Given the description of an element on the screen output the (x, y) to click on. 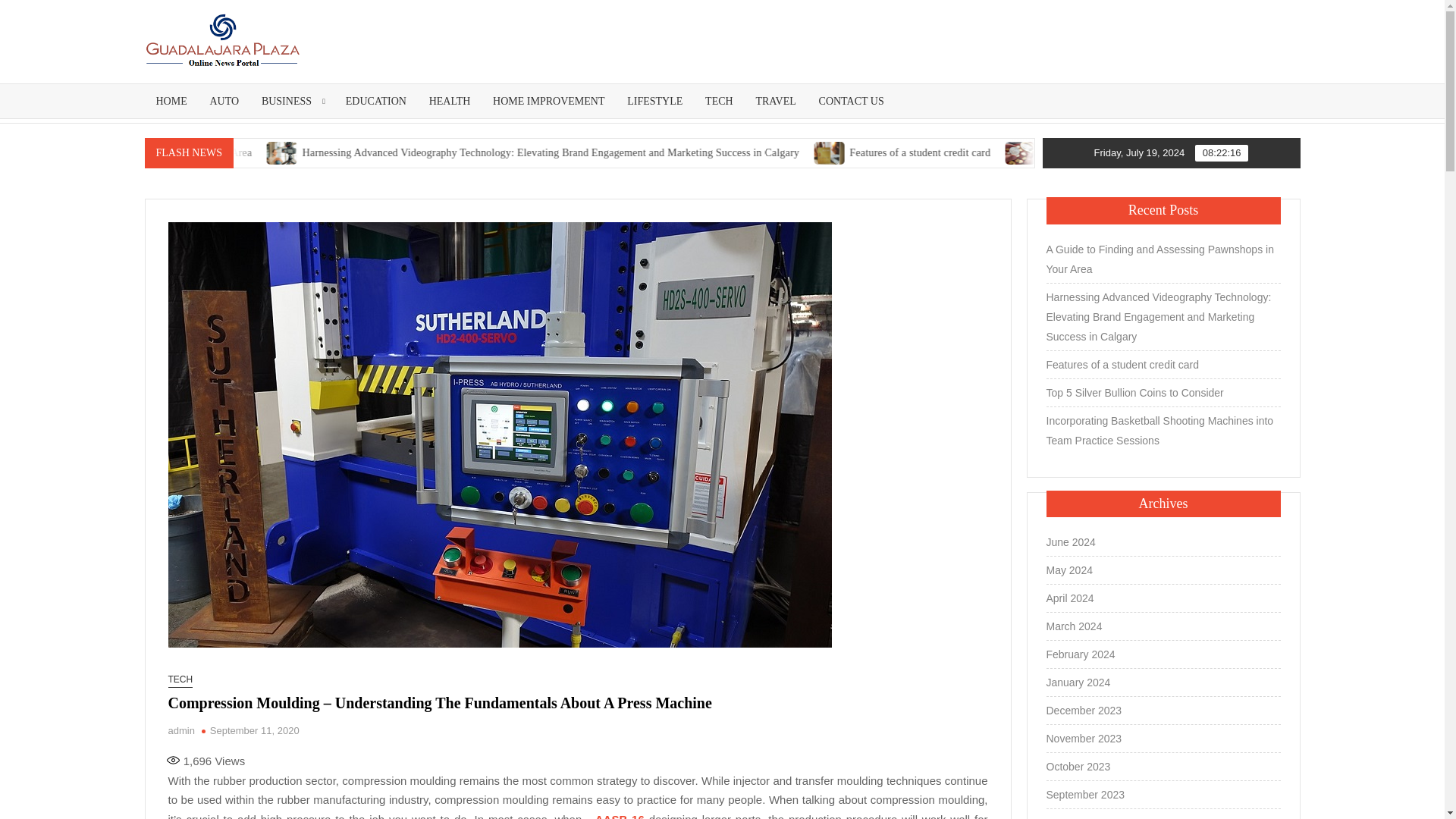
HOME (171, 100)
Features of a student credit card (919, 151)
AUTO (224, 100)
EDUCATION (375, 100)
LIFESTYLE (654, 100)
TECH (719, 100)
BUSINESS (292, 100)
HEALTH (449, 100)
A Guide to Finding and Assessing Pawnshops in Your Area (215, 152)
TRAVEL (775, 100)
Features of a student credit card (1006, 152)
A Guide to Finding and Assessing Pawnshops in Your Area (227, 152)
